Given the description of an element on the screen output the (x, y) to click on. 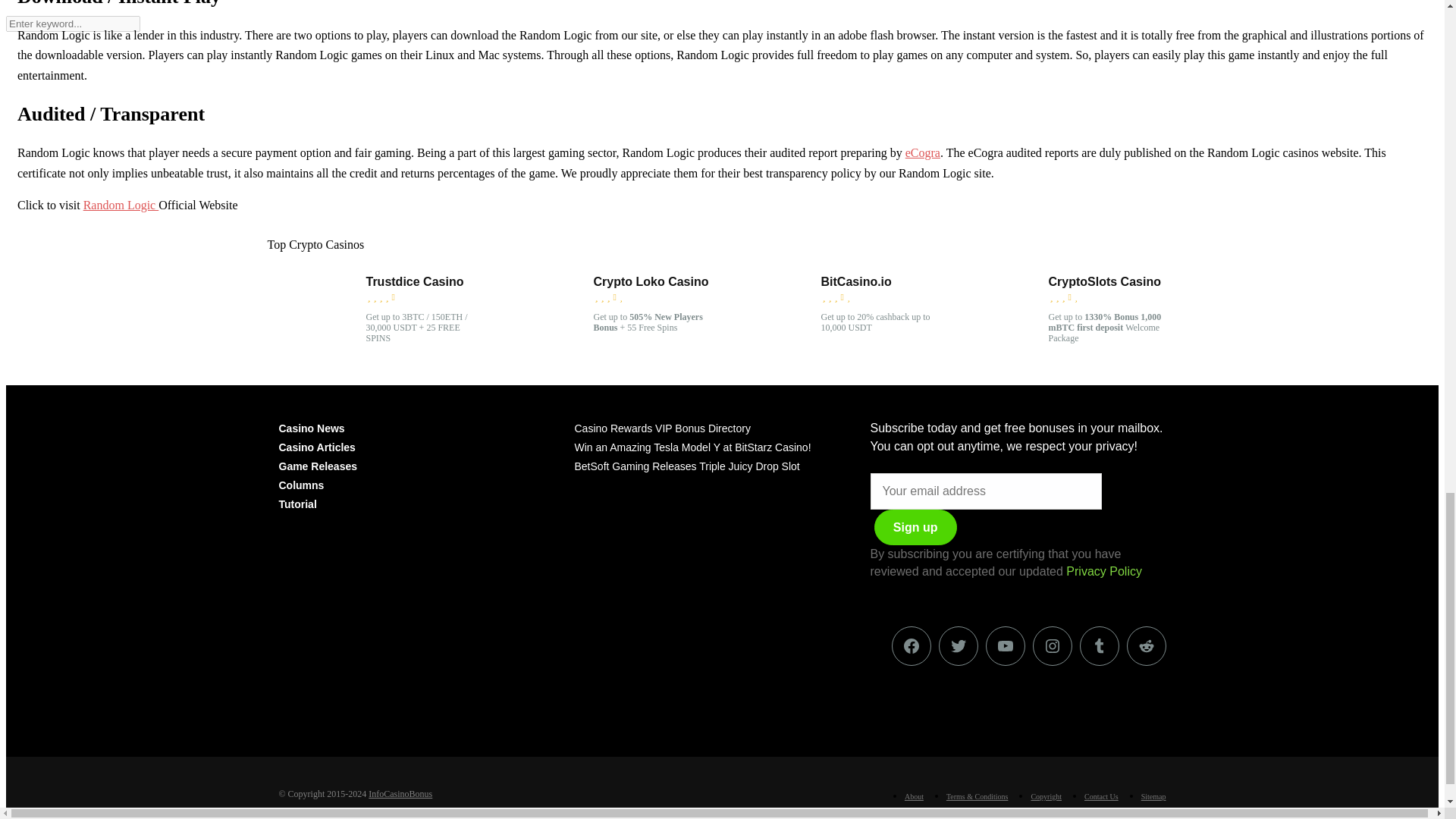
BitCasino.io (856, 282)
Crypto Loko Casino (544, 345)
Crypto Loko Casino (649, 282)
CryptoSlots Casino (1104, 282)
eCOGRA Casinos (922, 152)
CryptoSlots Casino (998, 345)
Trustdice Casino (317, 345)
BitCasino.io (771, 345)
Sign up (914, 527)
Trustdice Casino (414, 282)
